Given the description of an element on the screen output the (x, y) to click on. 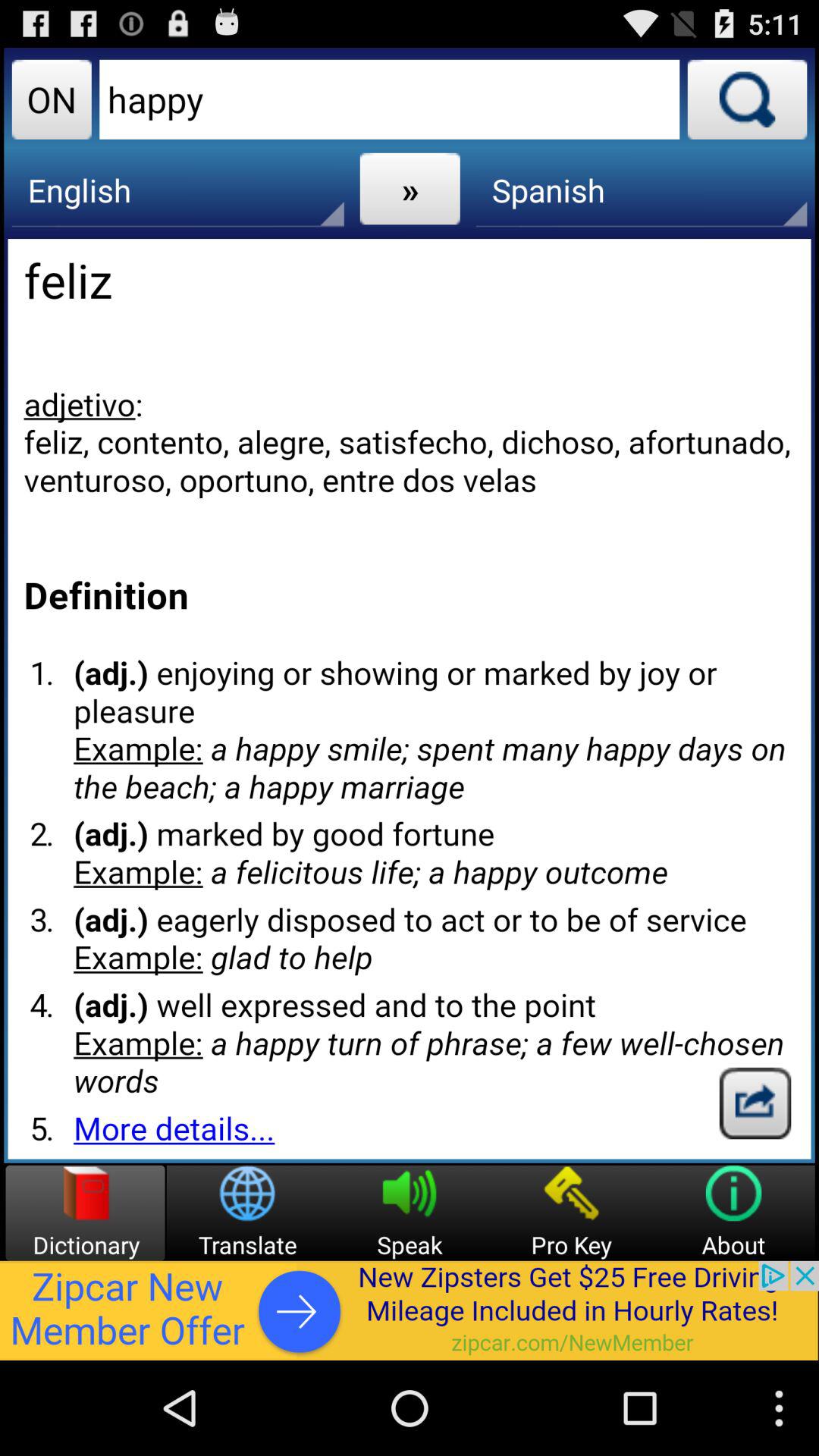
view the advertisement (409, 1310)
